Given the description of an element on the screen output the (x, y) to click on. 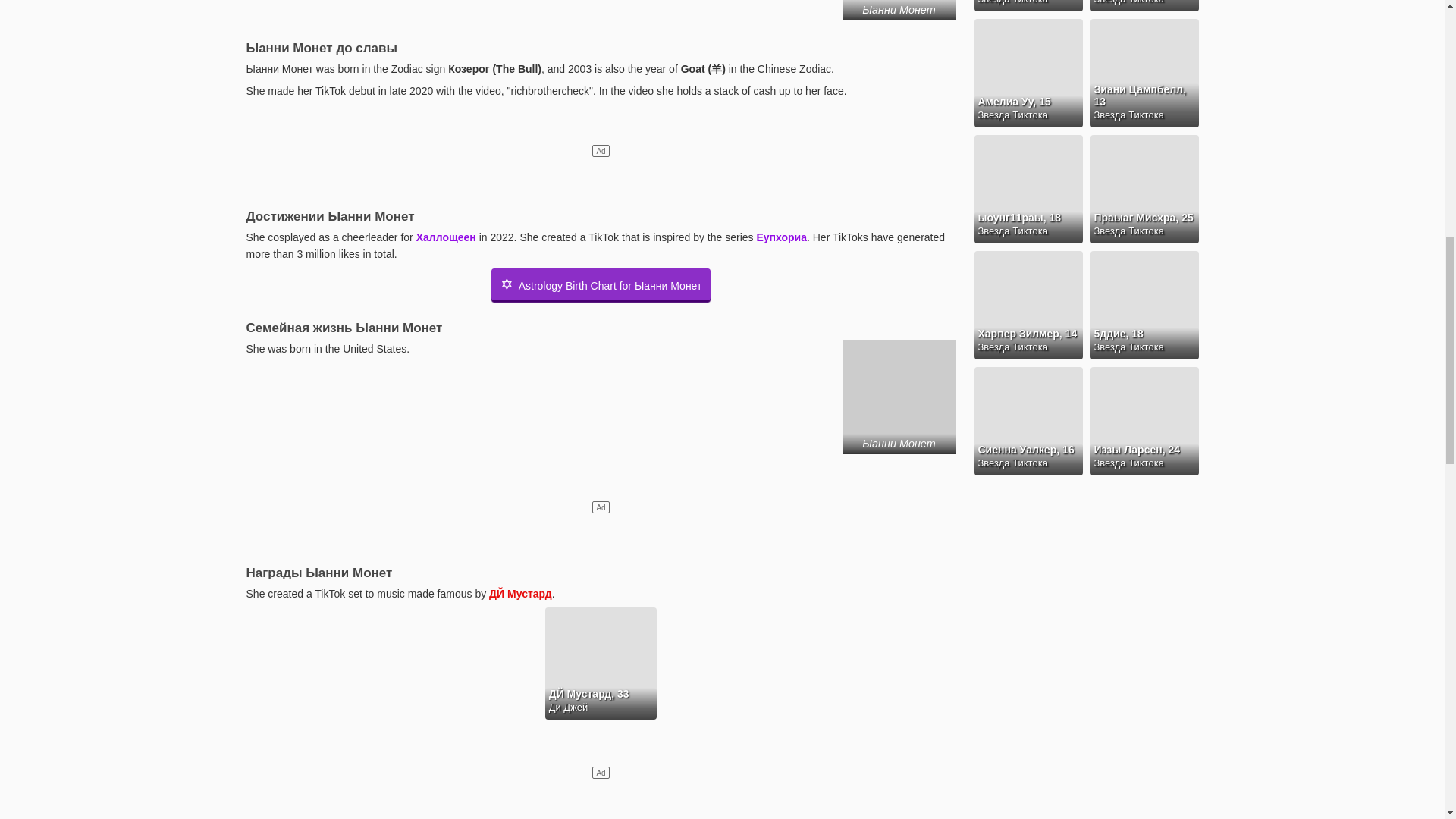
DJ Mustard biography (520, 593)
